Given the description of an element on the screen output the (x, y) to click on. 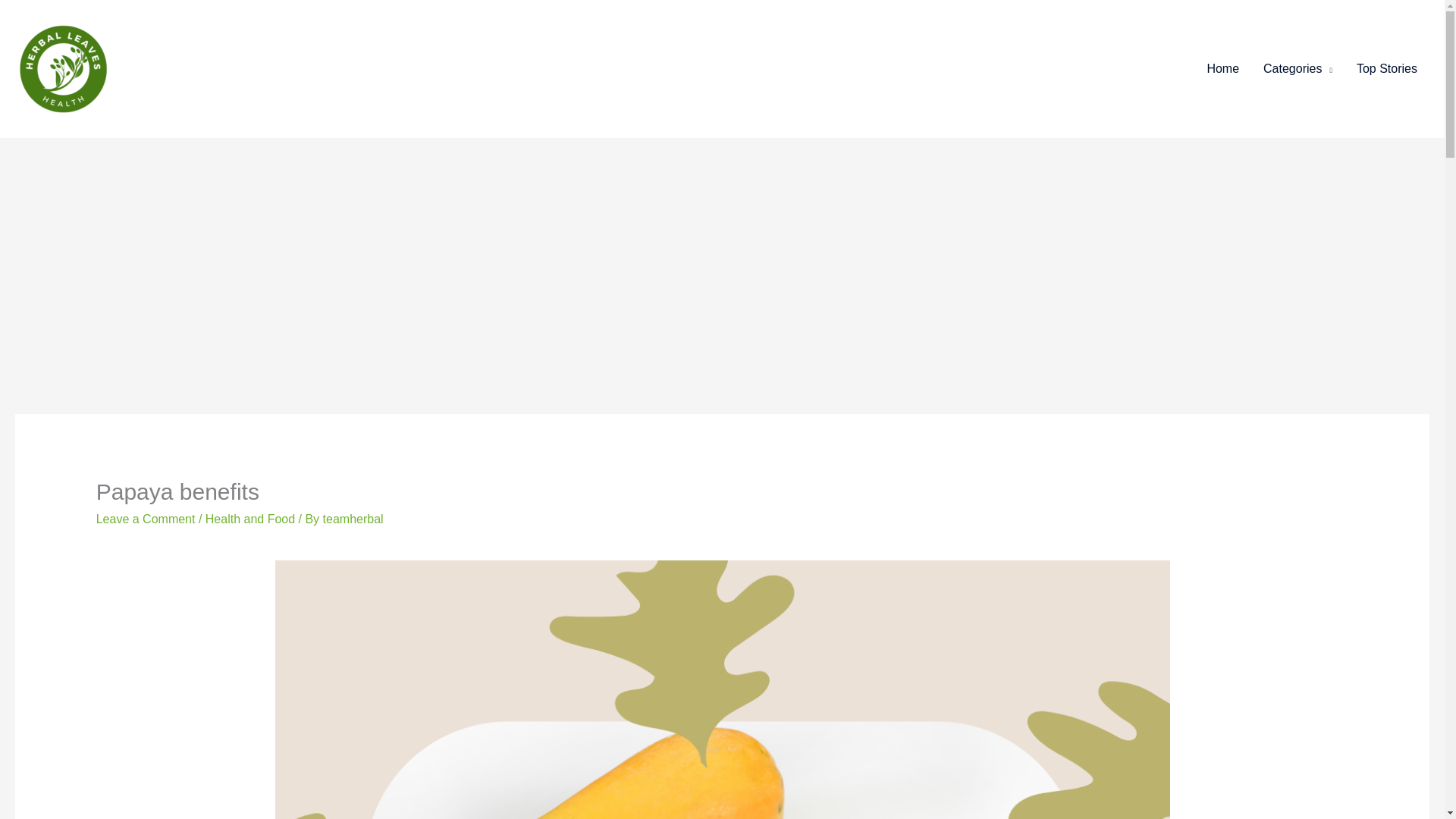
Home (1221, 68)
Health and Food (250, 518)
View all posts by teamherbal (353, 518)
teamherbal (353, 518)
Leave a Comment (145, 518)
Categories (1296, 68)
Top Stories (1386, 68)
